Given the description of an element on the screen output the (x, y) to click on. 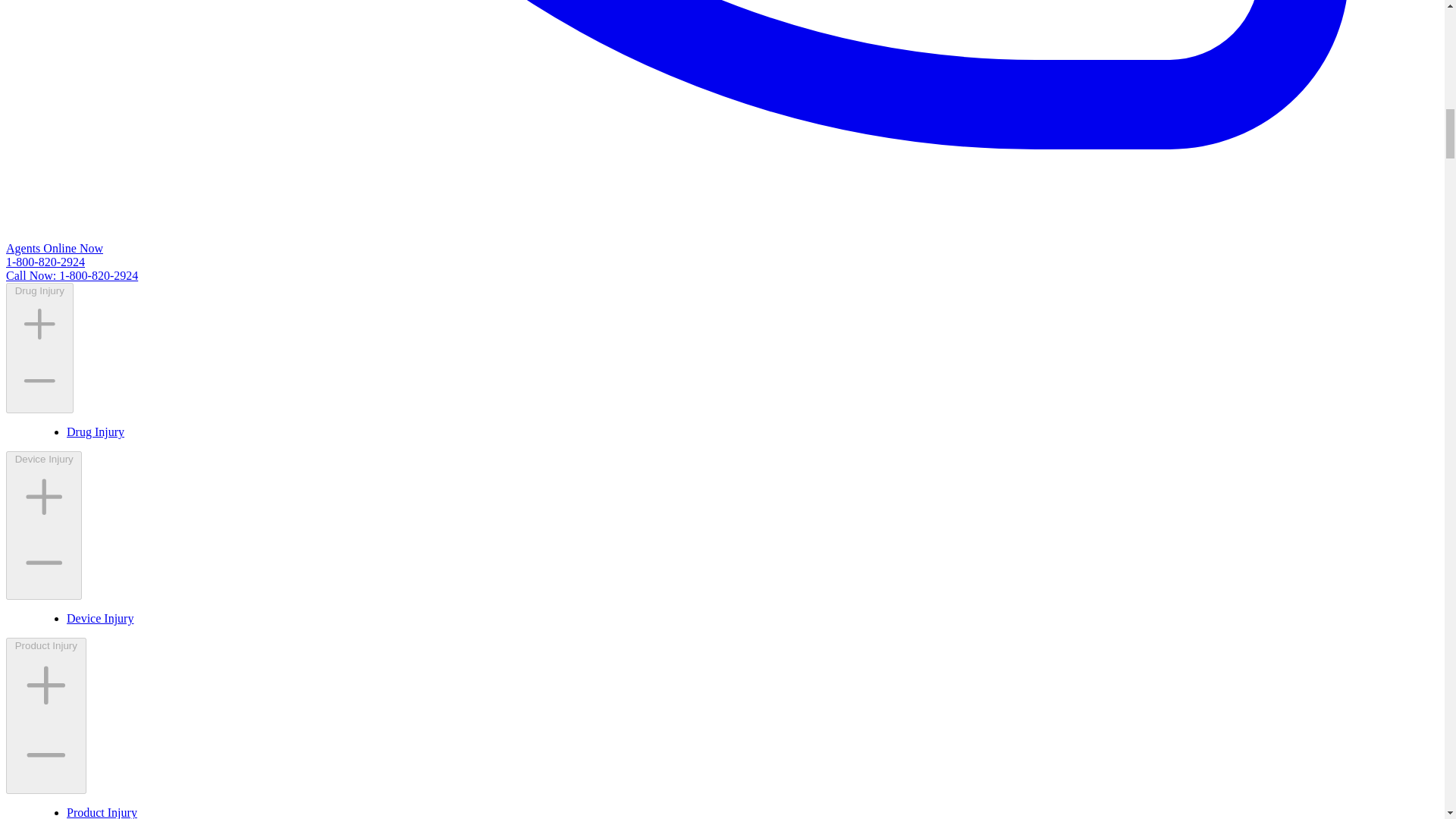
Call Now: 1-800-820-2924 (71, 275)
Device Injury (99, 617)
Product Injury (101, 812)
Drug Injury (94, 431)
